Given the description of an element on the screen output the (x, y) to click on. 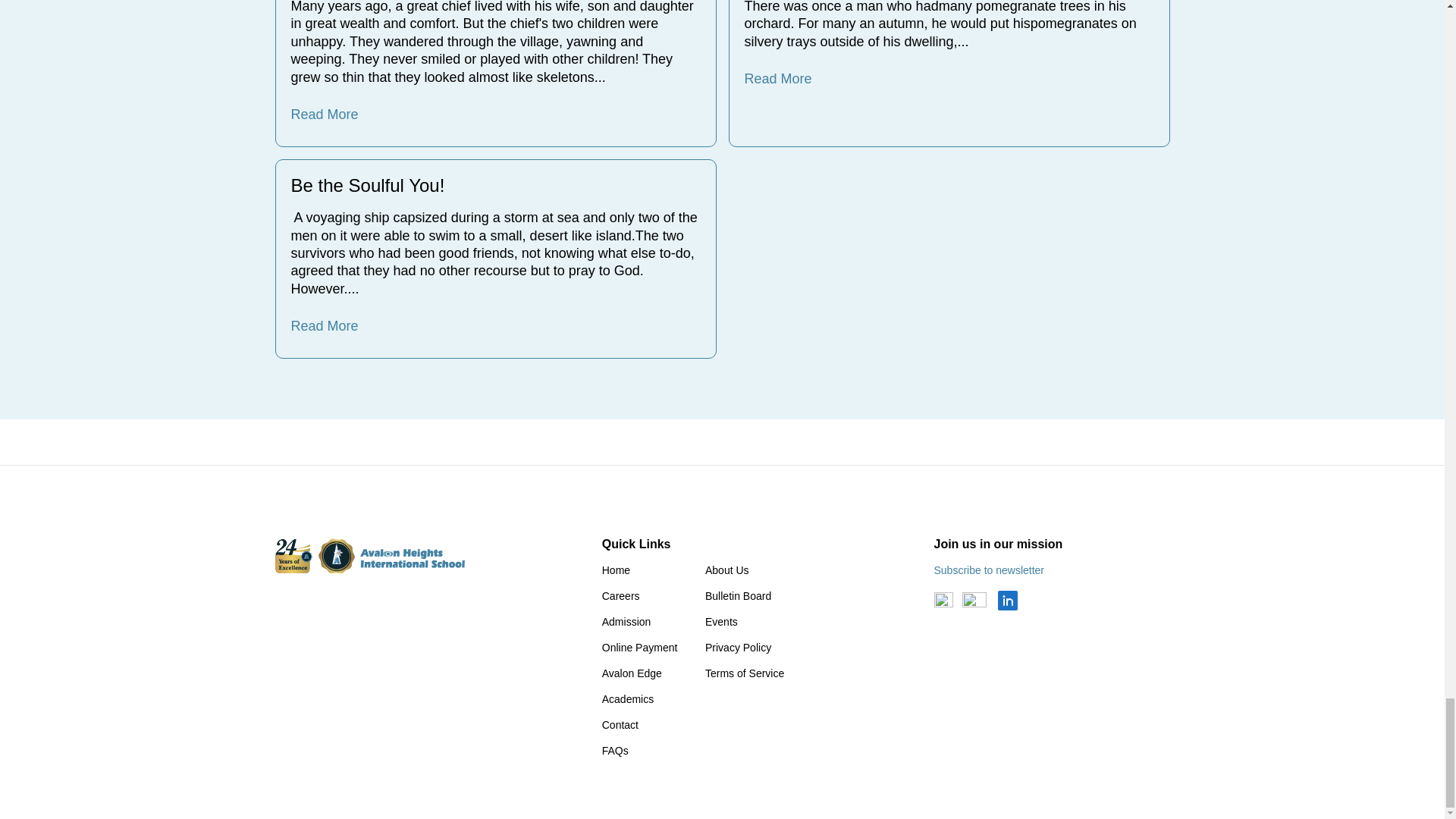
Avalon Edge (632, 673)
Home (616, 570)
FAQs (615, 750)
Admission (626, 621)
Careers (621, 595)
Online Payment (640, 647)
Academics (627, 698)
Contact (620, 725)
